Given the description of an element on the screen output the (x, y) to click on. 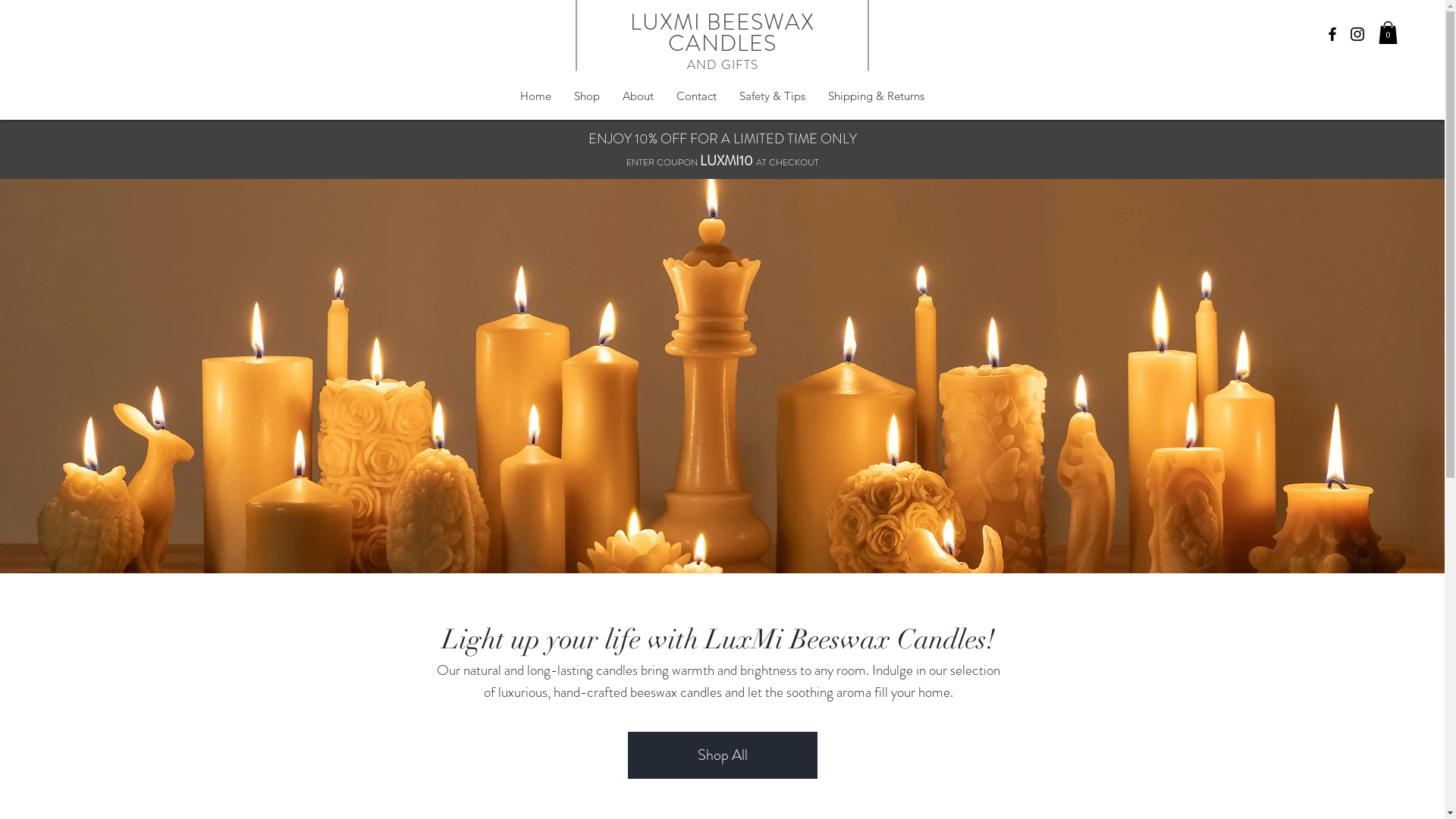
TWIPLA (Visitor Analytics) Element type: hover (286, 363)
Home Element type: text (535, 95)
0 Element type: text (1387, 32)
Contact Element type: text (696, 95)
Shipping & Returns Element type: text (875, 95)
About Element type: text (638, 95)
Shop Element type: text (586, 95)
Shop All Element type: text (722, 754)
Safety & Tips Element type: text (772, 95)
LUXMI BEESWAX CANDLES
AND GIFTS Element type: text (722, 44)
